Given the description of an element on the screen output the (x, y) to click on. 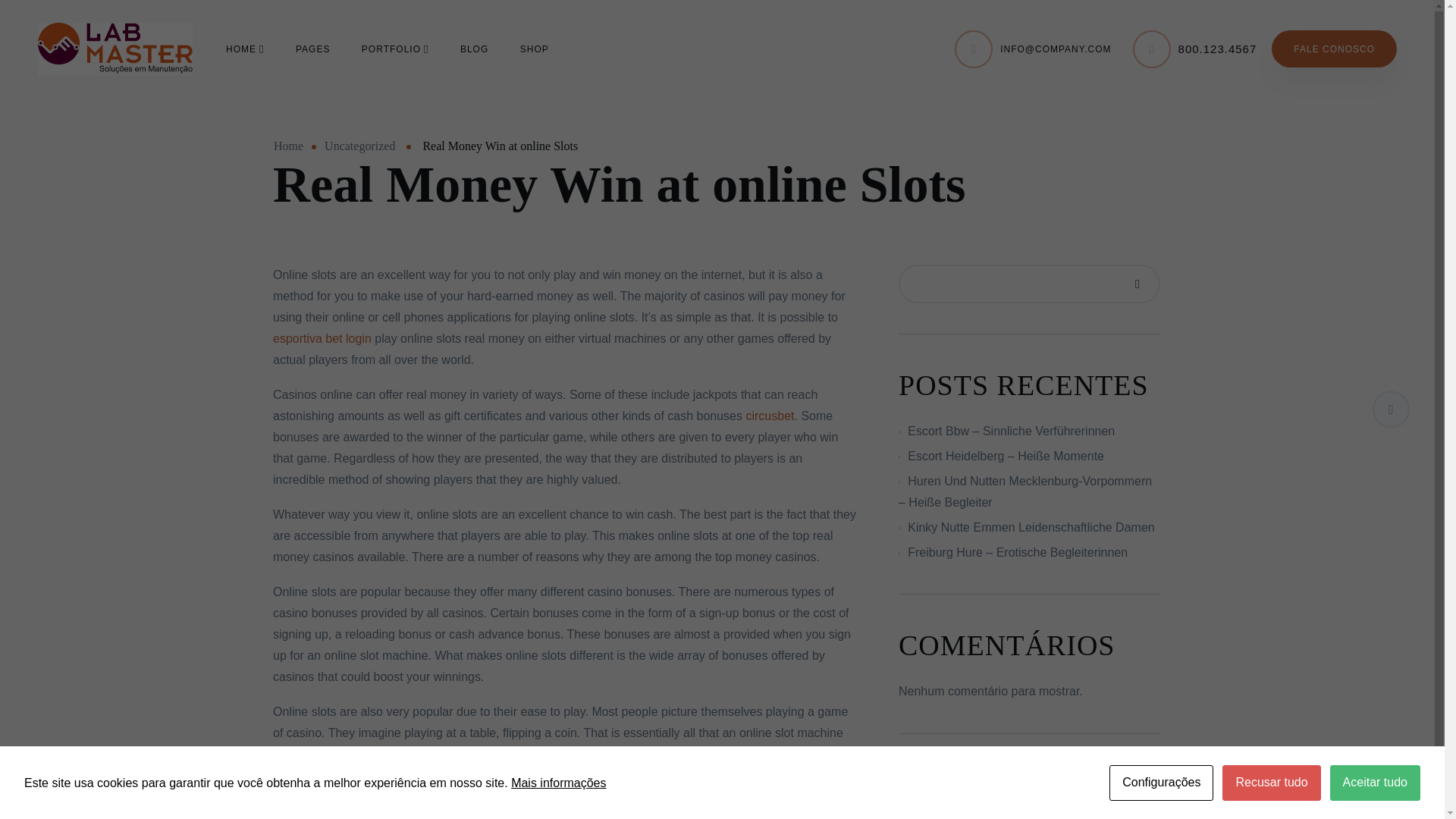
800.123.4567 (1217, 48)
PORTFOLIO (395, 48)
Home (288, 145)
Uncategorized (359, 145)
esportiva bet login (322, 338)
circusbet (769, 415)
HOME (244, 48)
FALE CONOSCO (1333, 48)
SHOP (533, 48)
Kinky Nutte Emmen Leidenschaftliche Damen (1030, 526)
PAGES (312, 48)
BLOG (473, 48)
lab (114, 49)
